Given the description of an element on the screen output the (x, y) to click on. 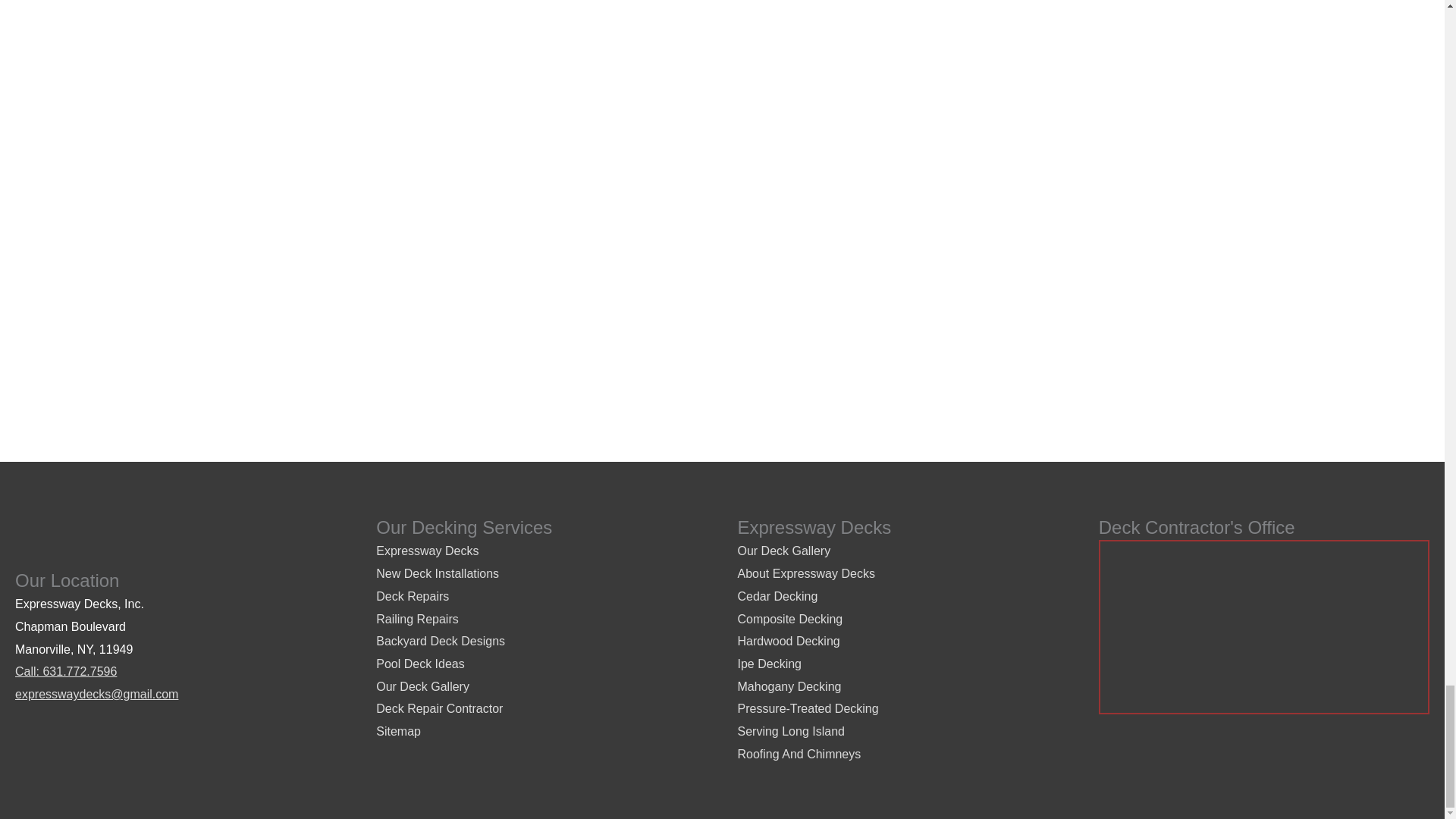
Call: 631.772.7596 (65, 671)
Railing Repairs (416, 618)
New Deck Installations (437, 573)
Backyard Deck Designs (440, 640)
Expressway Decks (427, 550)
Deck Repairs (411, 595)
